Given the description of an element on the screen output the (x, y) to click on. 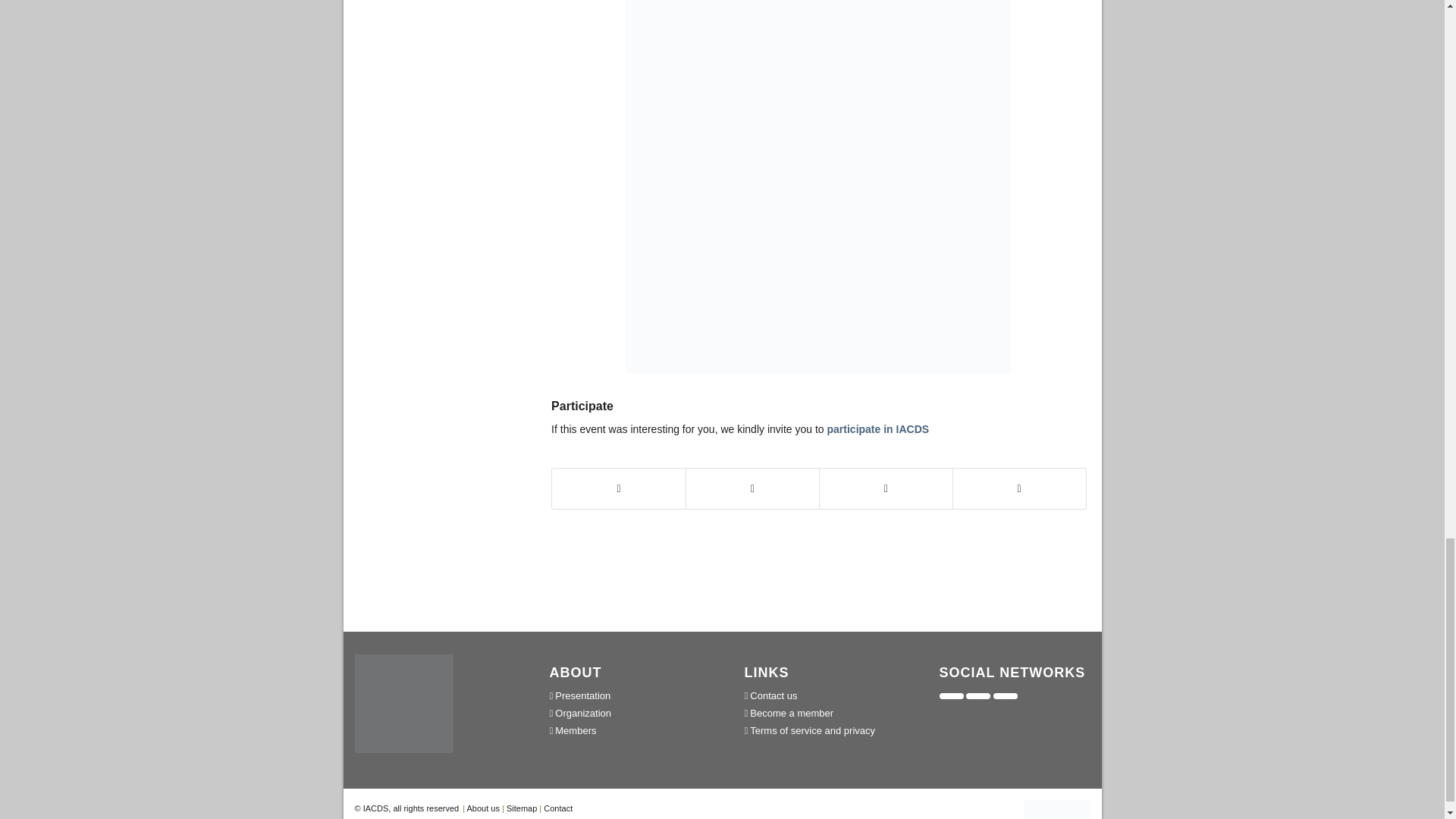
Presentation (625, 695)
Organization (625, 712)
